Given the description of an element on the screen output the (x, y) to click on. 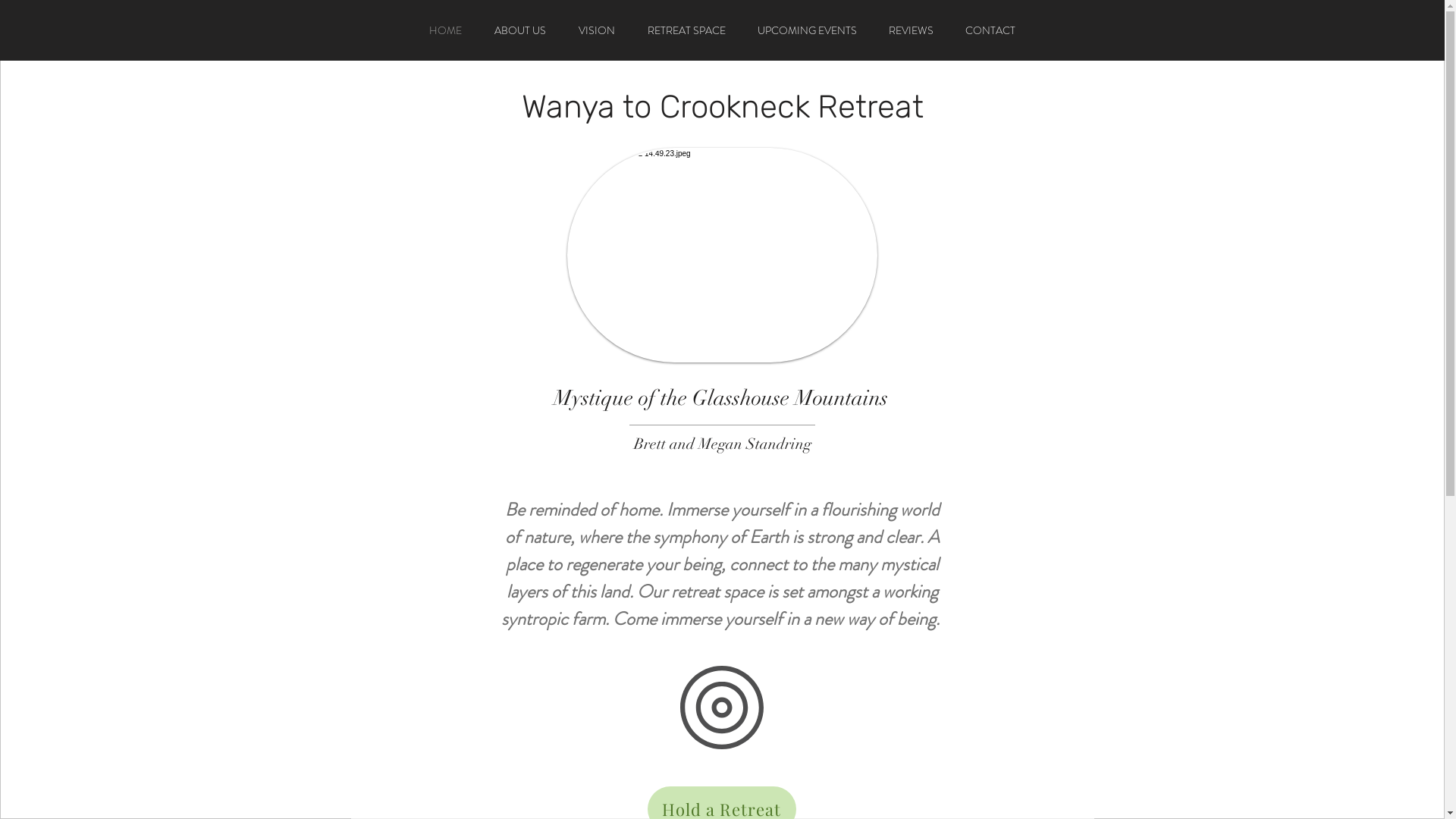
CONTACT Element type: text (990, 30)
ABOUT US Element type: text (519, 30)
HOME Element type: text (444, 30)
VISION Element type: text (596, 30)
RETREAT SPACE Element type: text (685, 30)
REVIEWS Element type: text (910, 30)
UPCOMING EVENTS Element type: text (806, 30)
